Given the description of an element on the screen output the (x, y) to click on. 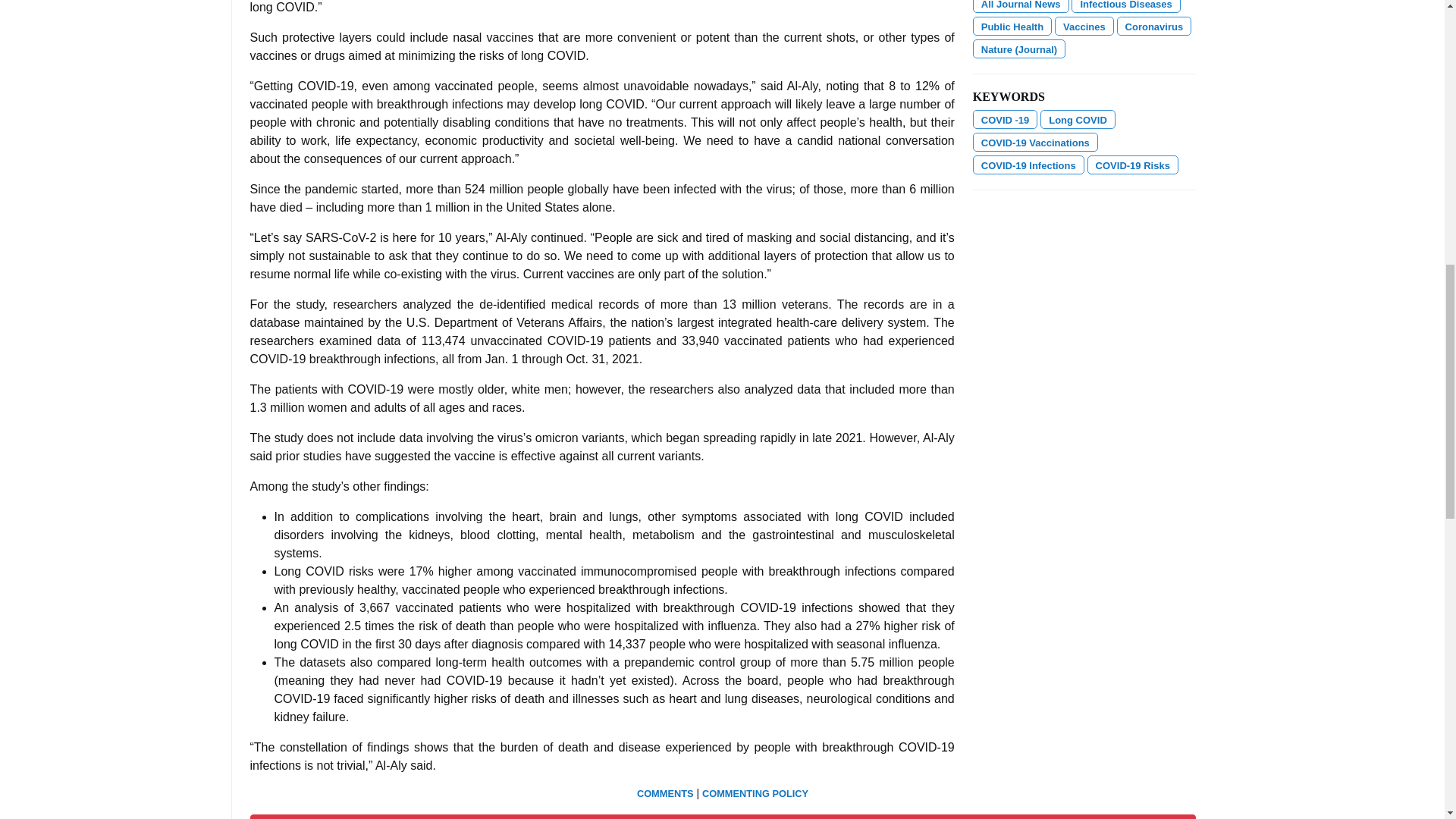
Show all articles in this channel (1011, 26)
Show all articles in this channel (1125, 6)
Show all articles in this channel (1020, 6)
